Given the description of an element on the screen output the (x, y) to click on. 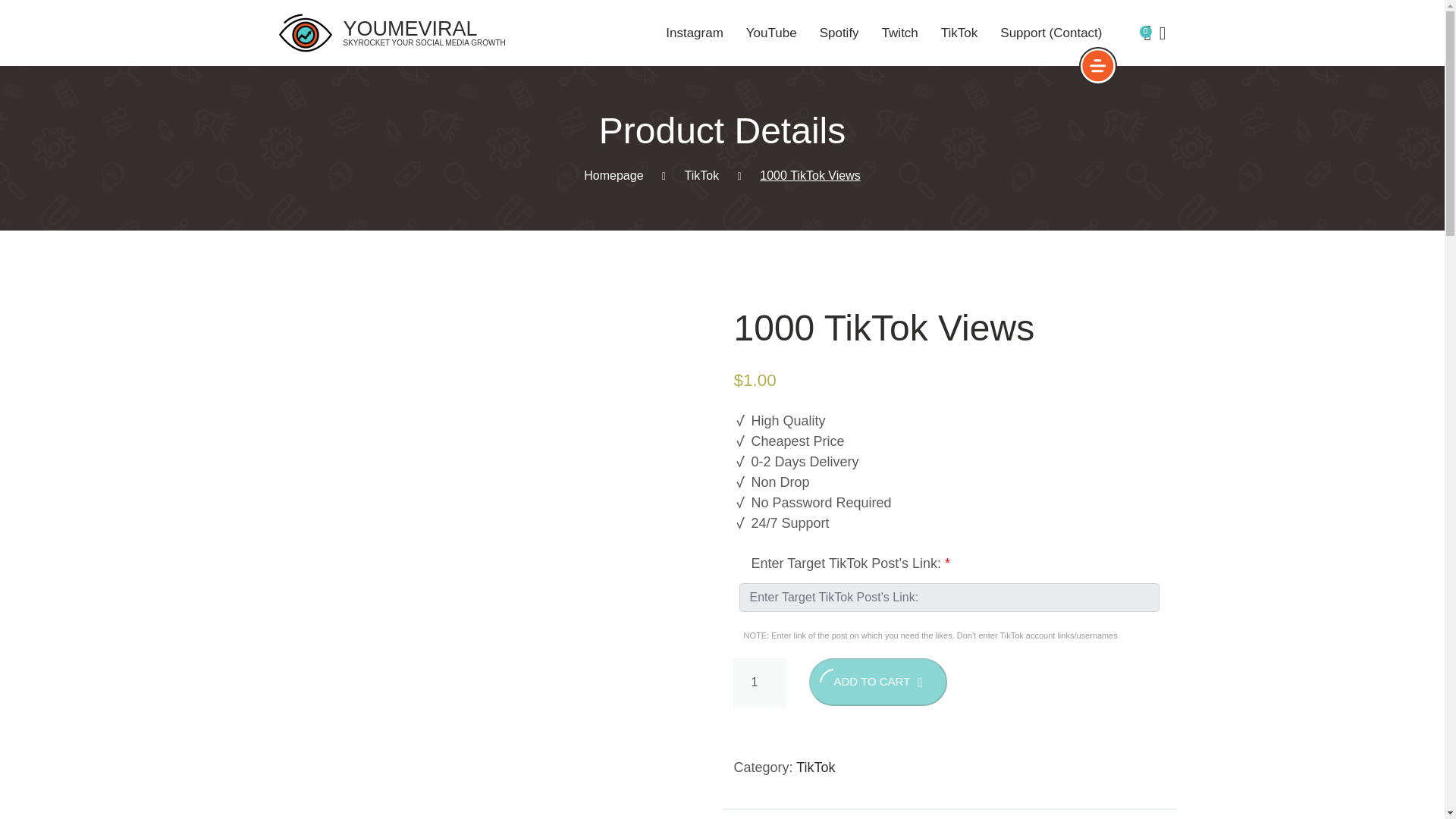
YouTube (770, 32)
TikTok (701, 174)
TikTok (959, 32)
Twitch (900, 32)
Homepage (613, 174)
Spotify (839, 32)
1 (759, 682)
Instagram (695, 30)
